Given the description of an element on the screen output the (x, y) to click on. 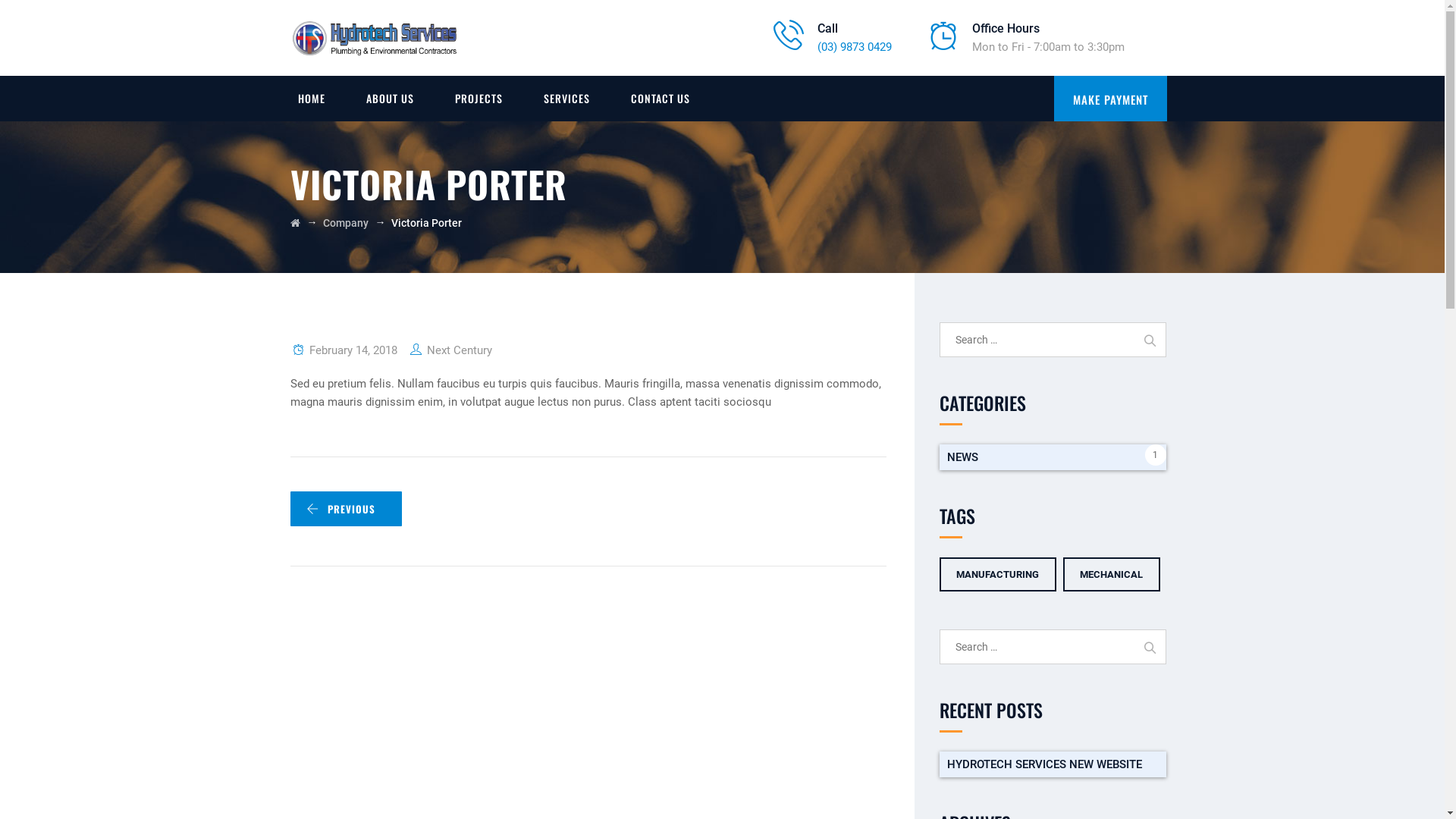
NEWS Element type: text (1052, 457)
HOME Element type: text (311, 98)
SERVICES Element type: text (566, 98)
HYDROTECH SERVICES NEW WEBSITE Element type: text (1052, 764)
Search Element type: text (1148, 339)
(03) 9873 0429 Element type: text (854, 46)
Go to Hydrotech Services. Element type: hover (294, 222)
PROJECTS Element type: text (477, 98)
PREVIOUS Element type: text (345, 508)
February 14, 2018 Element type: text (354, 350)
Next Century Element type: text (458, 350)
ABOUT US Element type: text (390, 98)
Hydrotech Services Element type: hover (374, 37)
MANUFACTURING Element type: text (997, 574)
Company Element type: text (345, 222)
CONTACT US Element type: text (659, 98)
MECHANICAL Element type: text (1111, 574)
MAKE PAYMENT Element type: text (1110, 98)
Search Element type: text (1148, 646)
